Given the description of an element on the screen output the (x, y) to click on. 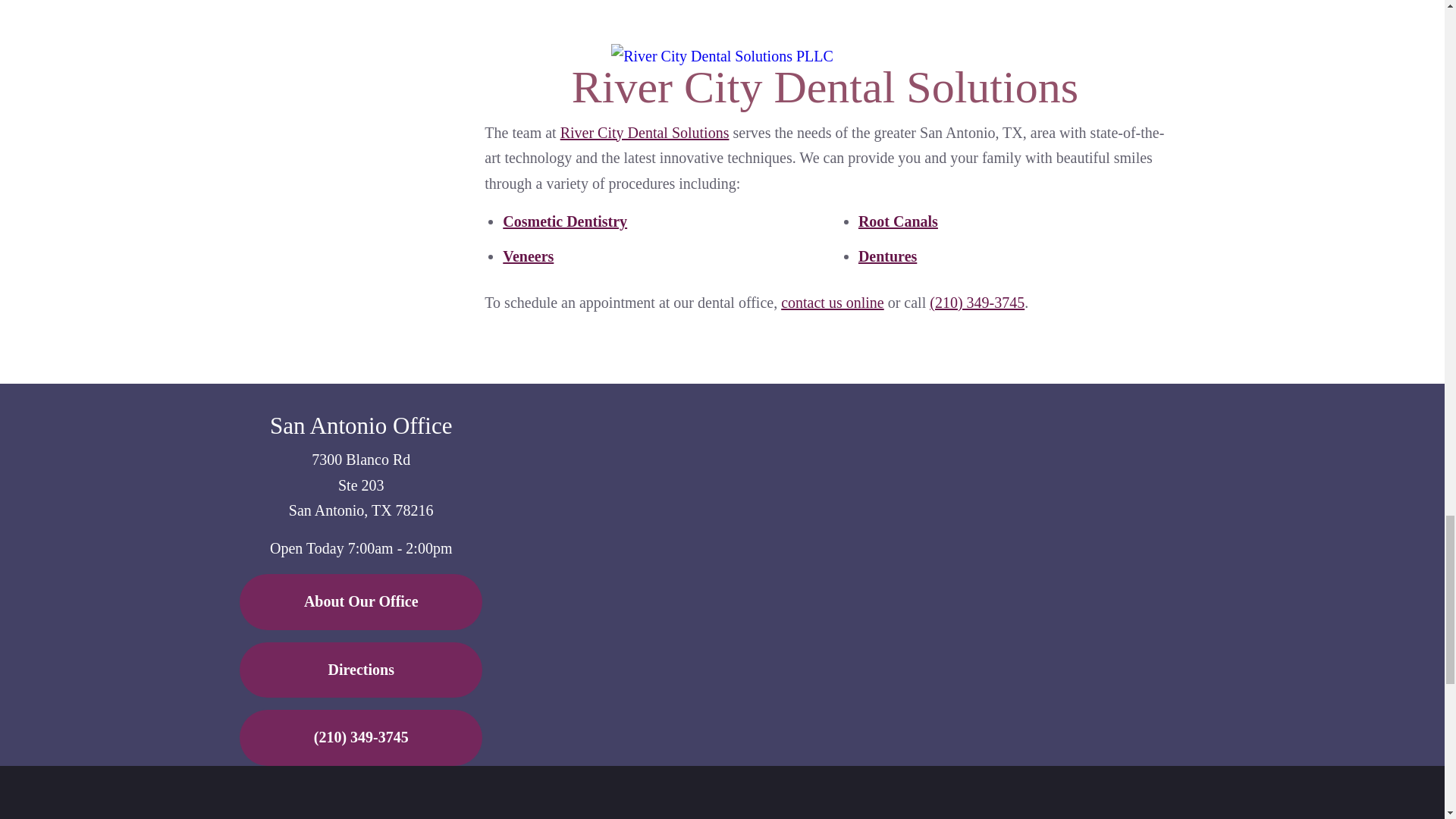
Directions (360, 670)
Locations (995, 395)
About Our Office (360, 601)
Dentures (888, 255)
River City Dental Solutions (644, 132)
contact us online (831, 302)
Veneers (527, 255)
San Antonio Office (360, 425)
Cosmetic Dentistry (564, 221)
Root Canals (898, 221)
